Given the description of an element on the screen output the (x, y) to click on. 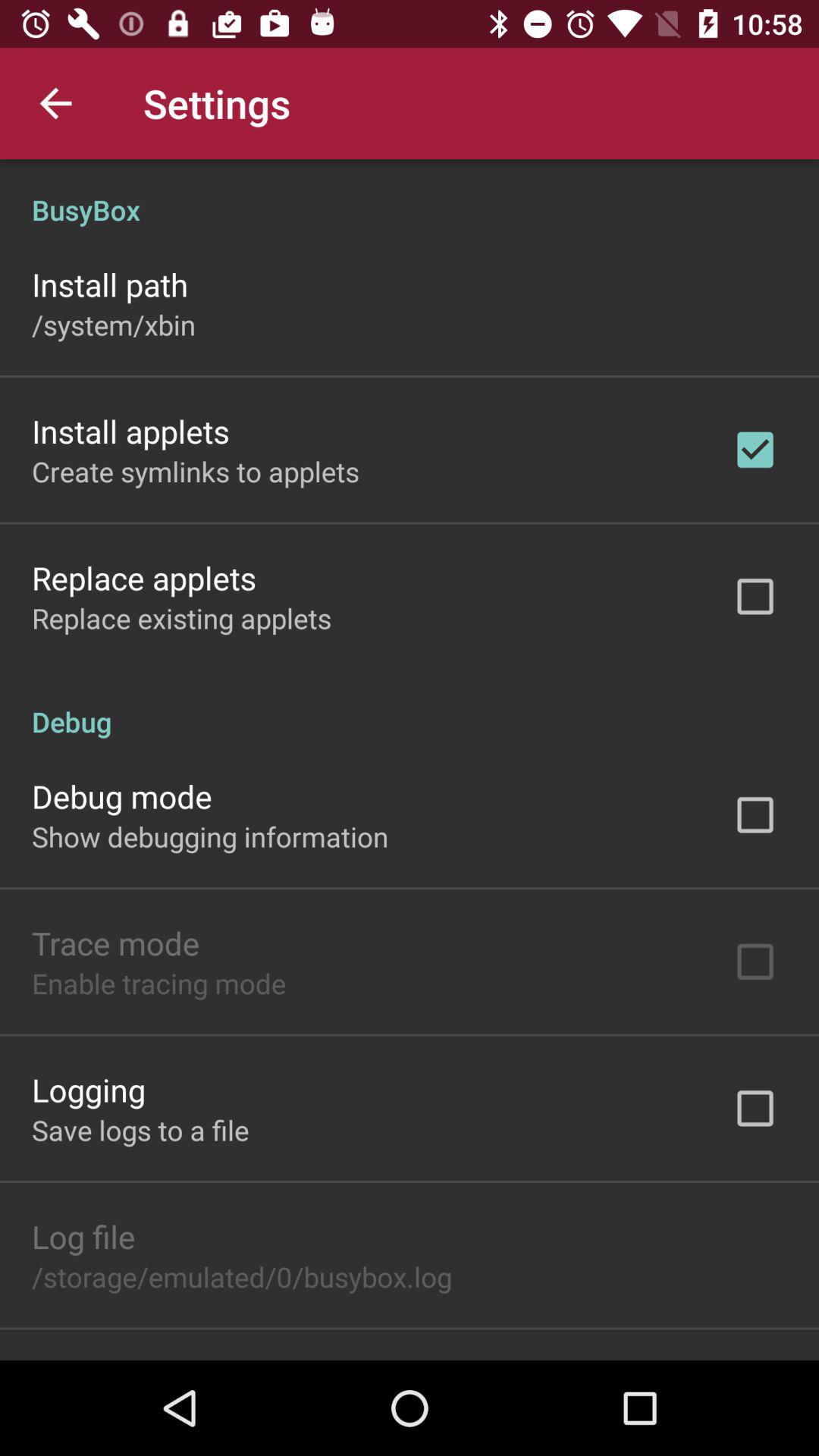
click the show debugging information icon (209, 836)
